Given the description of an element on the screen output the (x, y) to click on. 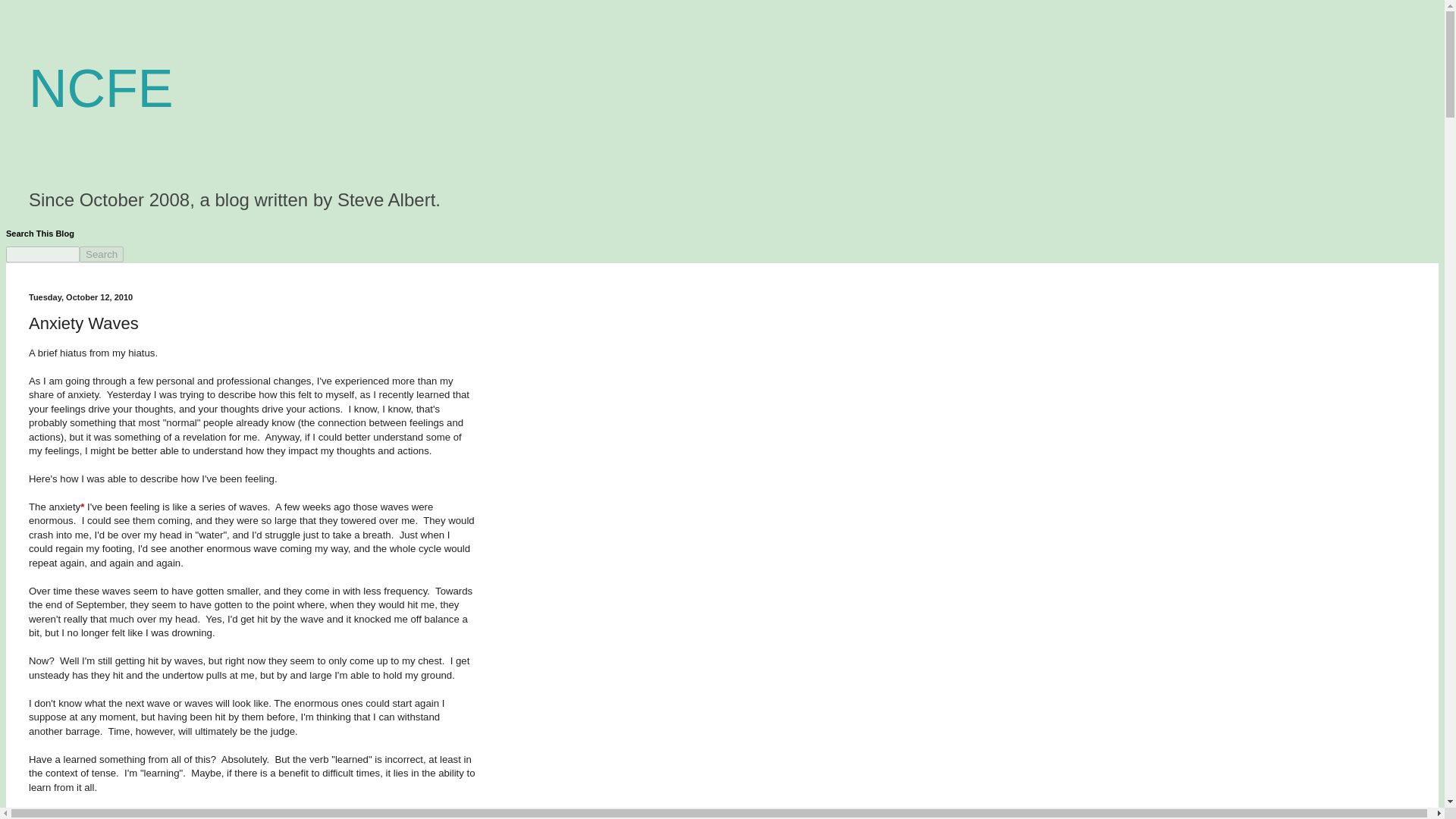
search (101, 254)
Search (101, 254)
Search (101, 254)
search (42, 254)
NCFE (101, 87)
Search (101, 254)
